Given the description of an element on the screen output the (x, y) to click on. 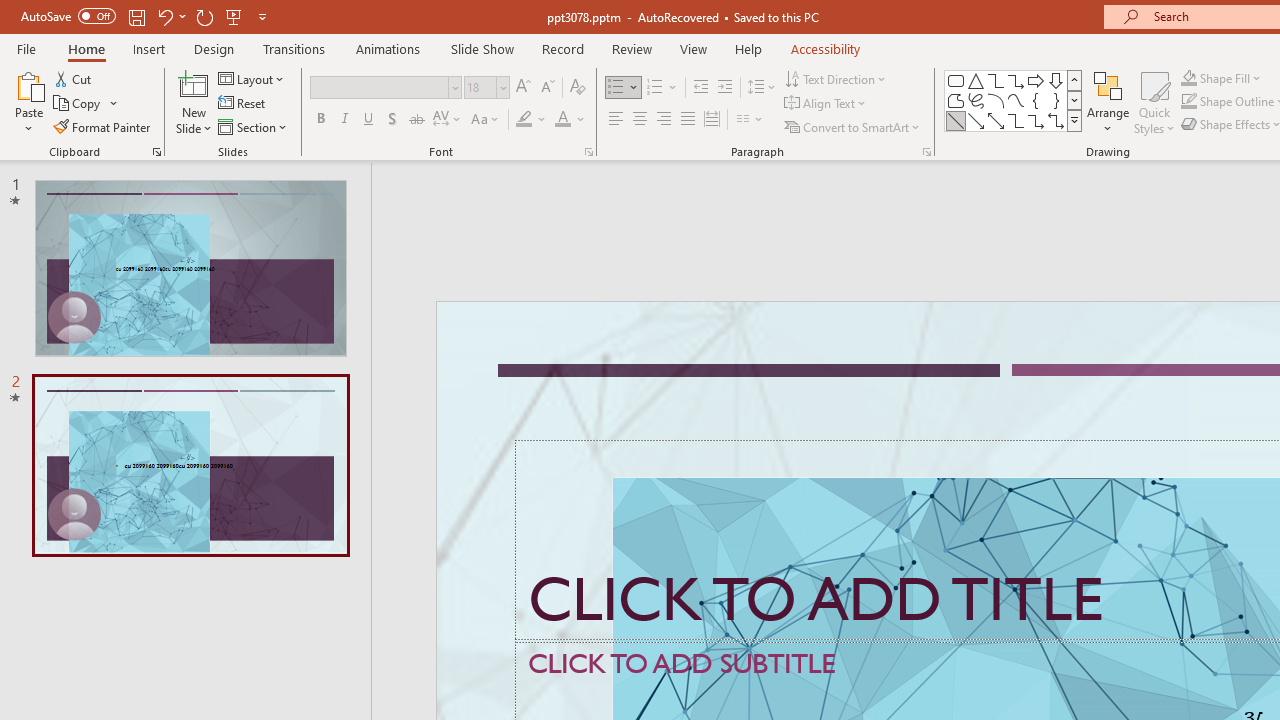
Line Arrow: Double (995, 120)
